Given the description of an element on the screen output the (x, y) to click on. 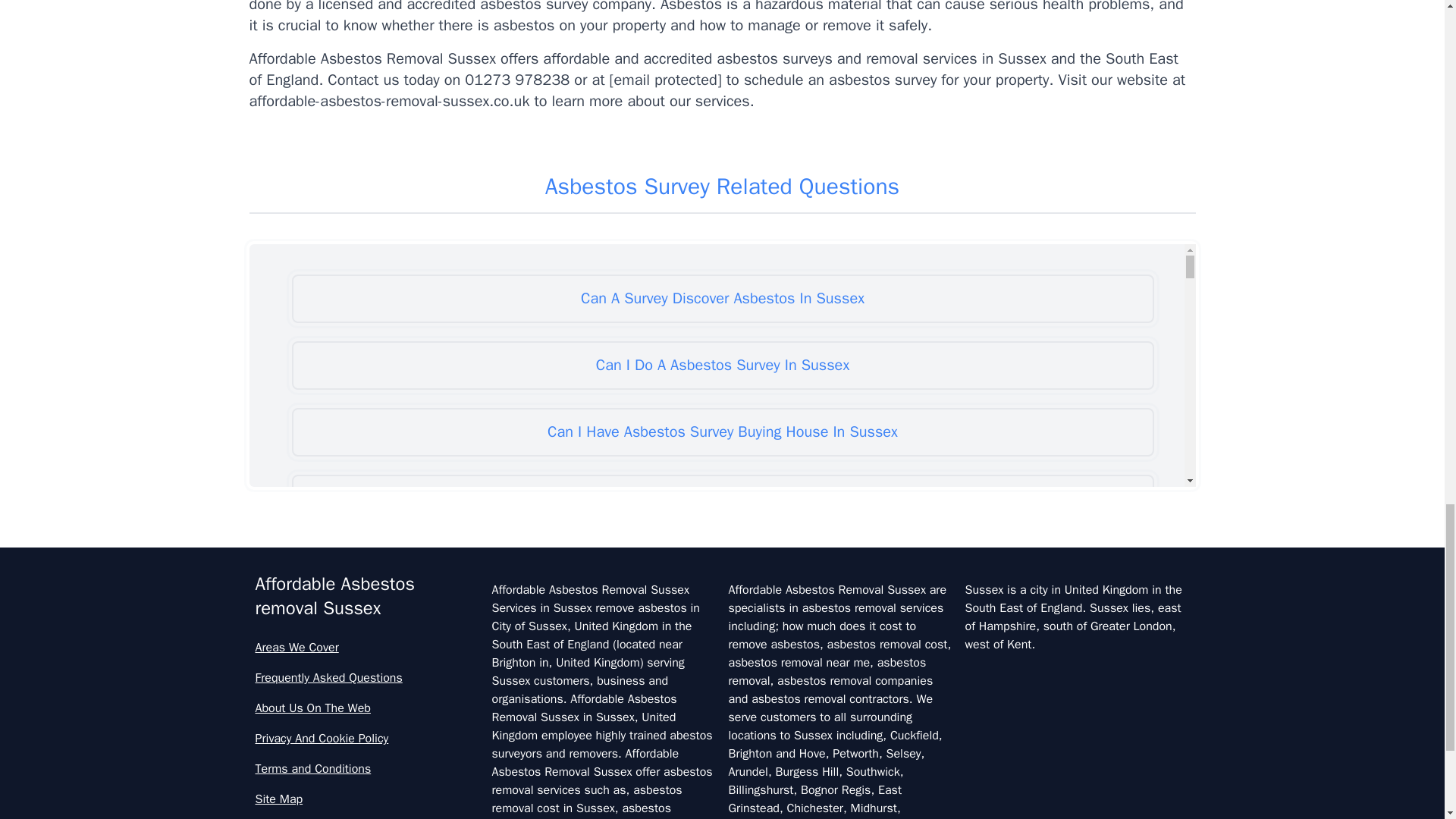
Do Asbestos Surveys Priduce Dyst In Sussex (722, 766)
Do All Houses Need An Asbestos Survey In Sussex (722, 698)
Can A Survey Discover Asbestos In Sussex (722, 298)
Can I Do A Asbestos Survey In Sussex (722, 365)
Do All 1980 Properties Require Asbestos Survey In Sussex (722, 565)
Do All Buildings Need An Asbestos Survey In Sussex (722, 632)
Do Business Need Asbestos Survey In Sussex (722, 813)
Can I Have Asbestos Survey Buying House In Sussex (722, 431)
Site Map (366, 799)
